Given the description of an element on the screen output the (x, y) to click on. 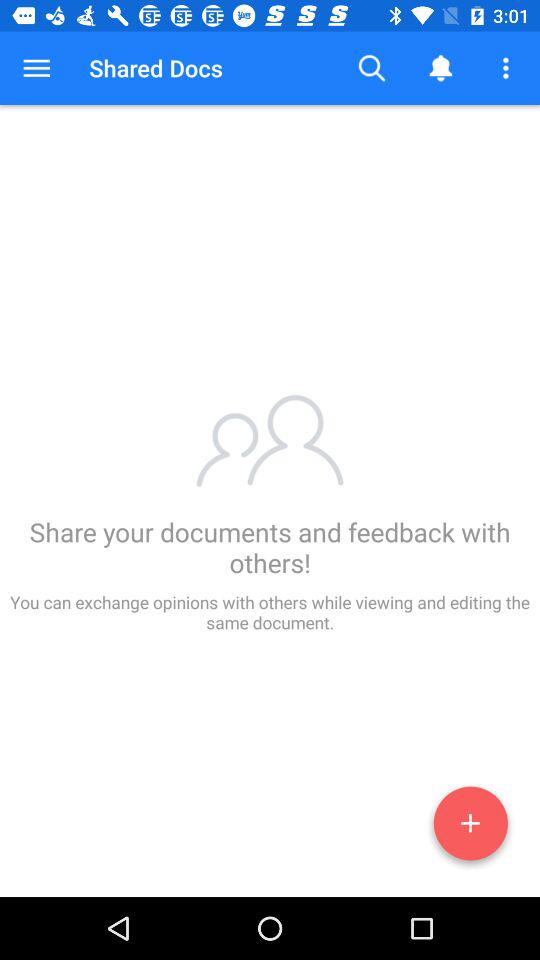
turn off icon next to shared docs (371, 67)
